Given the description of an element on the screen output the (x, y) to click on. 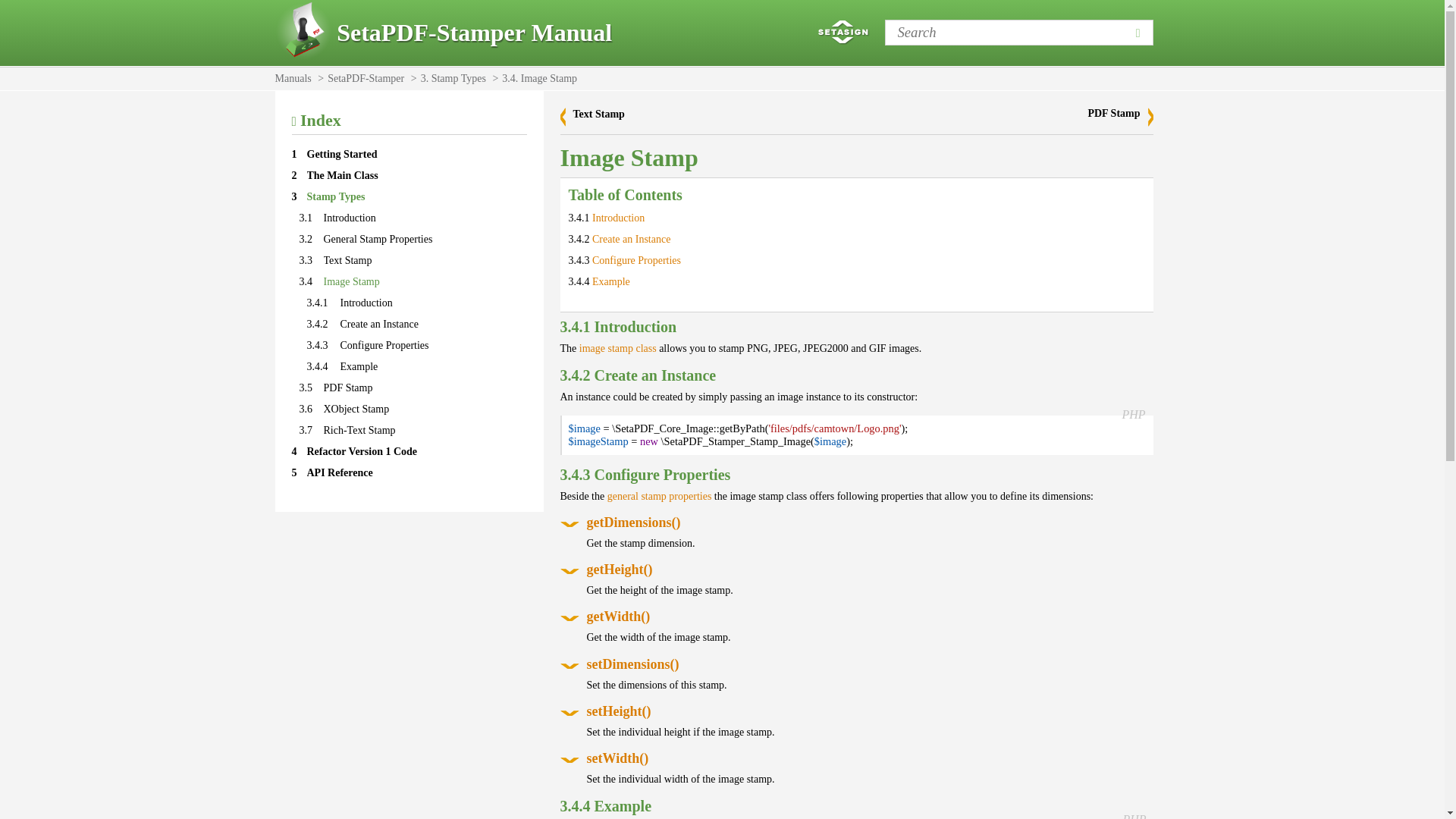
PHP source code (1132, 414)
Example (358, 366)
Introduction (365, 302)
Text Stamp (598, 113)
Create an Instance (378, 324)
Text Stamp (347, 260)
Configure Properties (636, 260)
Example (611, 281)
PDF Stamp (1120, 116)
Refactor Version 1 Code (360, 451)
PDF Stamp (347, 387)
Stamp Types (335, 196)
XObject Stamp (355, 408)
Create an Instance (630, 238)
The PHP source code that is executed by this demo. (1133, 816)
